Given the description of an element on the screen output the (x, y) to click on. 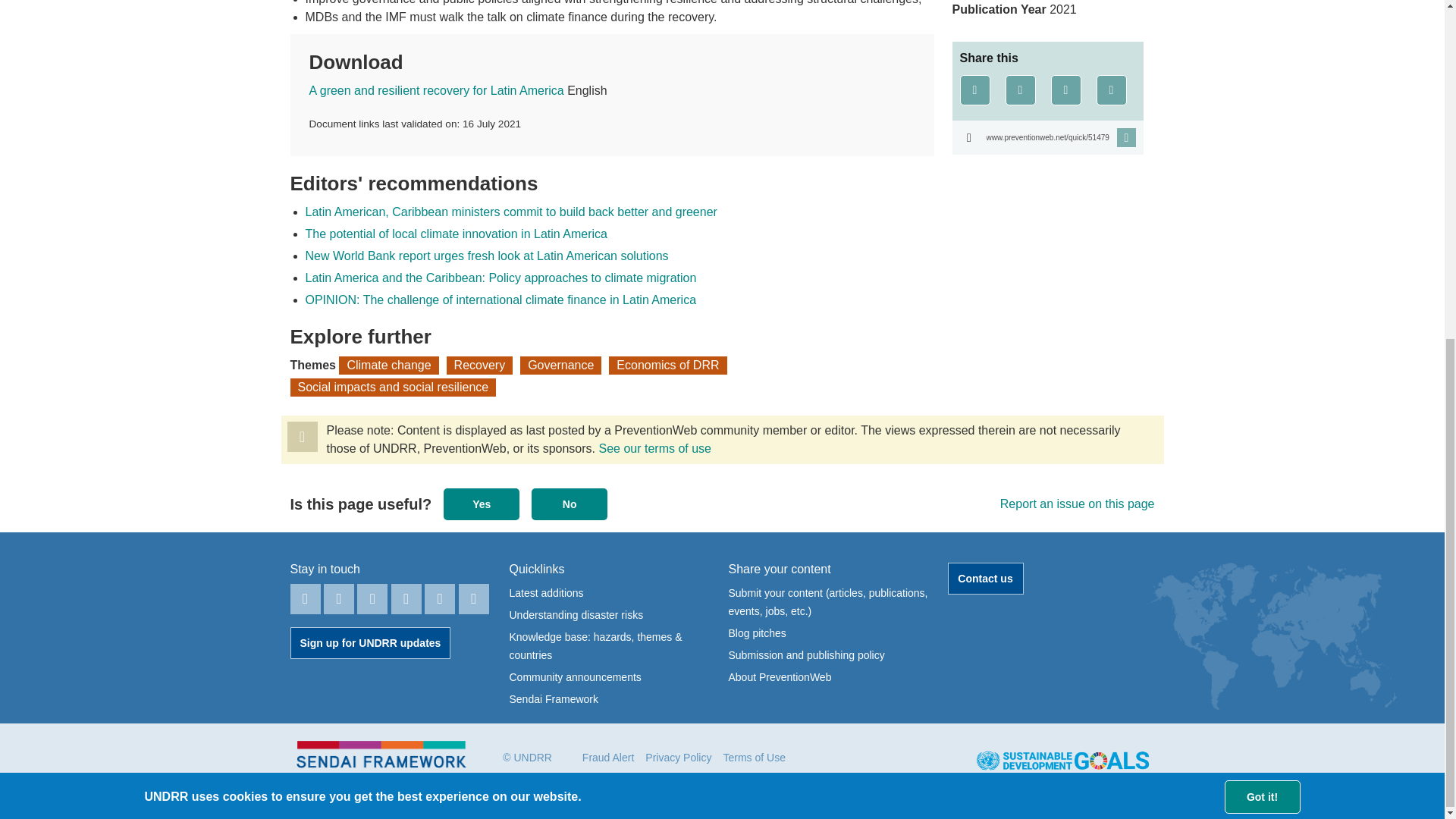
Share on LinkedIn (1066, 90)
A green and resilient recovery for Latin America (436, 90)
Recovery (479, 365)
Share via Email (1111, 90)
Share on Facebook (974, 90)
The potential of local climate innovation in Latin America (455, 233)
Share on Twitter (1020, 90)
Climate change (388, 365)
Copy to Clipboard (1047, 137)
Governance (560, 365)
